Given the description of an element on the screen output the (x, y) to click on. 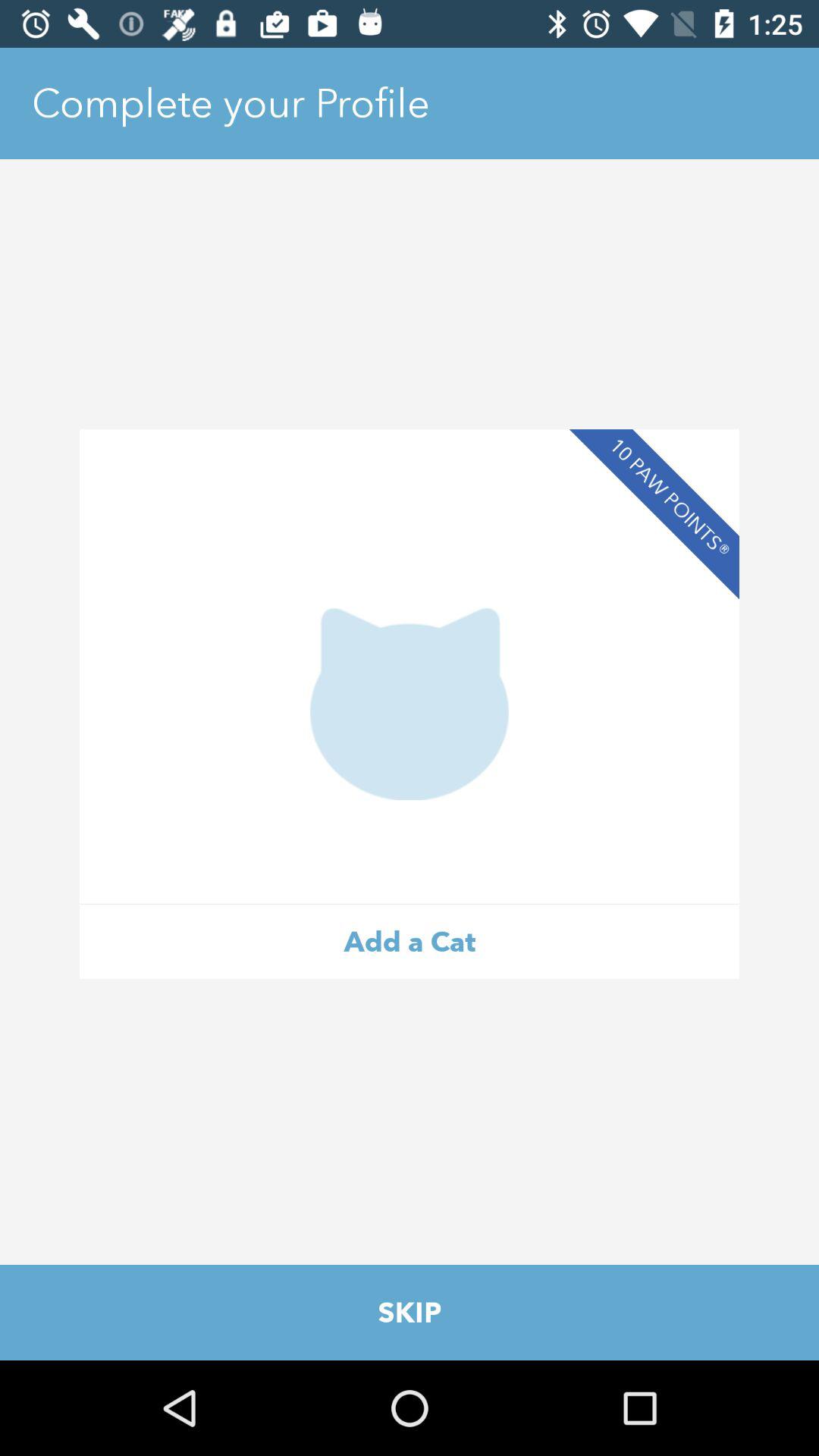
swipe to skip icon (409, 1312)
